Given the description of an element on the screen output the (x, y) to click on. 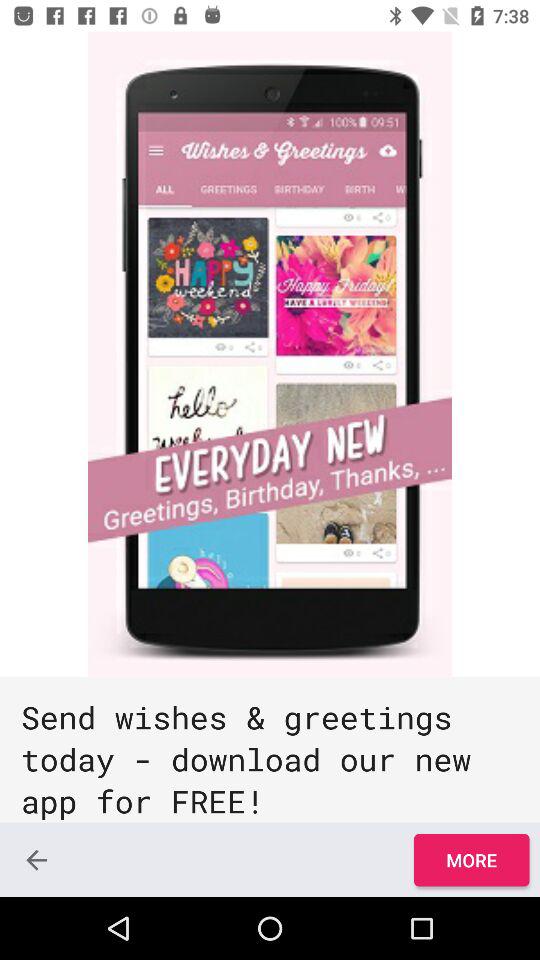
open icon below the send wishes greetings item (36, 859)
